Given the description of an element on the screen output the (x, y) to click on. 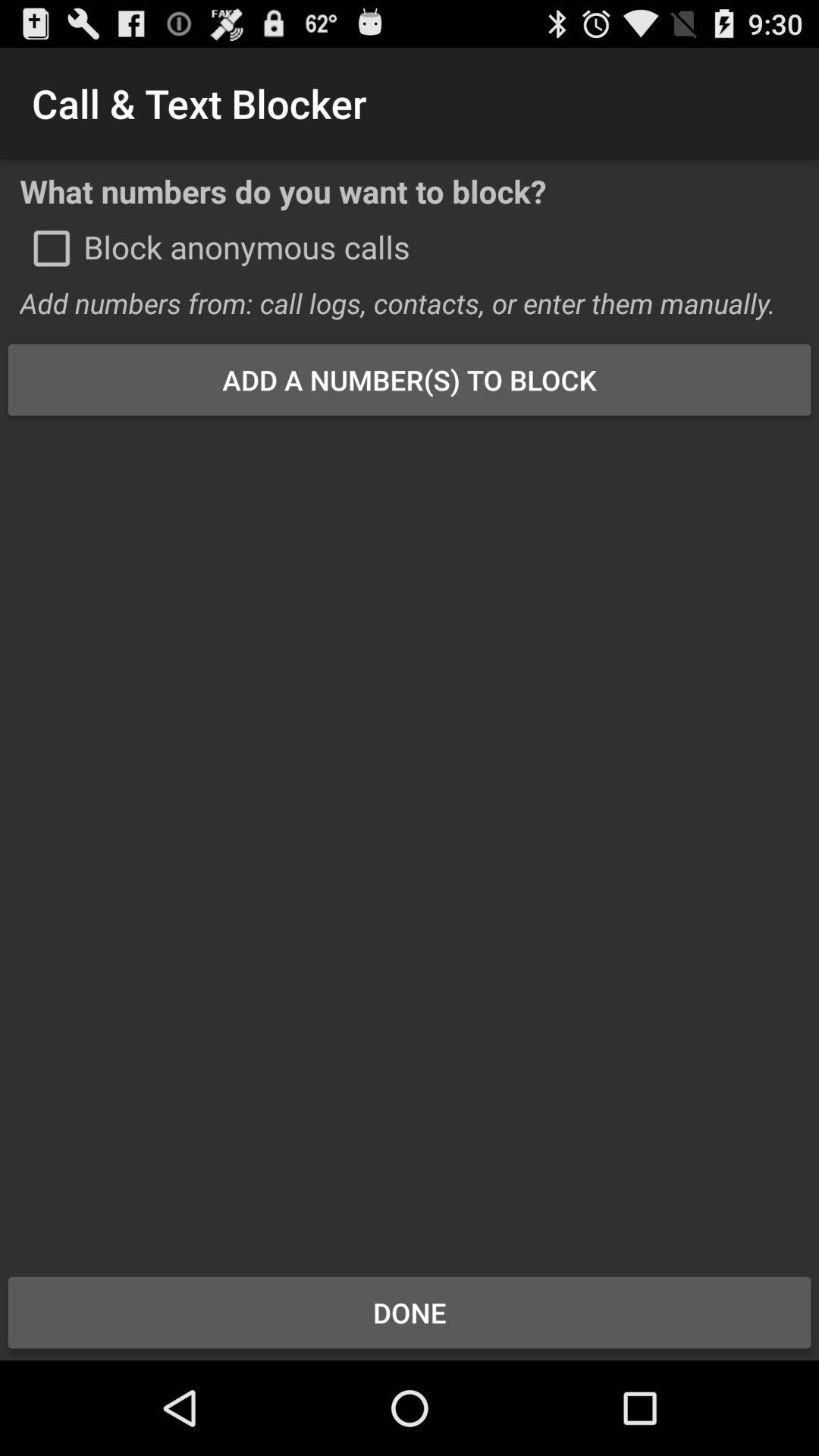
open button at the bottom (409, 1312)
